Given the description of an element on the screen output the (x, y) to click on. 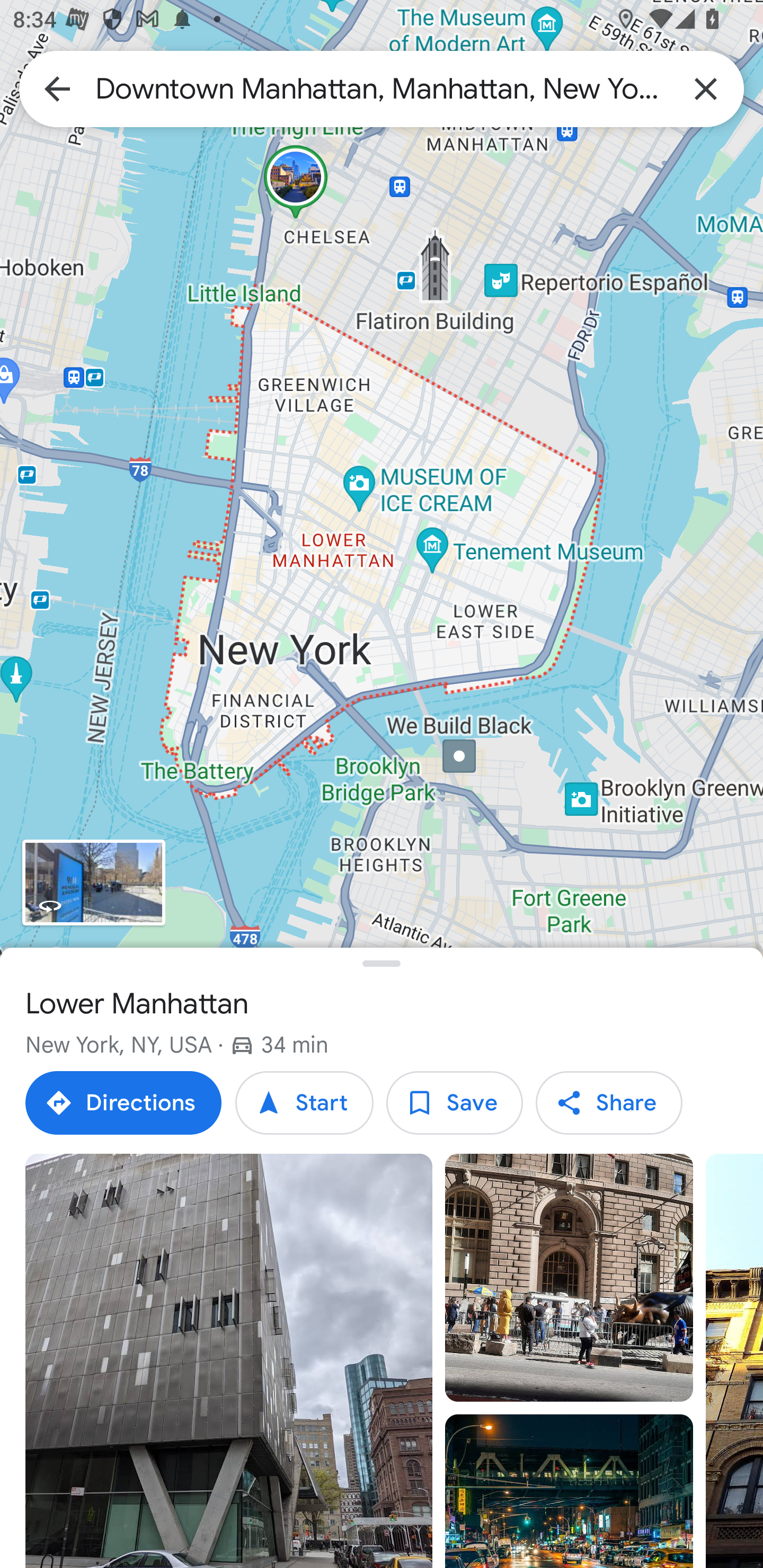
Back (57, 88)
Downtown Manhattan, Manhattan, New York, NY (381, 88)
Clear (705, 88)
View Street view imagery for Lower Manhattan (93, 881)
Start Start Start (304, 1102)
Share Lower Manhattan Share Share Lower Manhattan (608, 1102)
Photo (228, 1361)
Photo (568, 1277)
Photo (568, 1491)
